Given the description of an element on the screen output the (x, y) to click on. 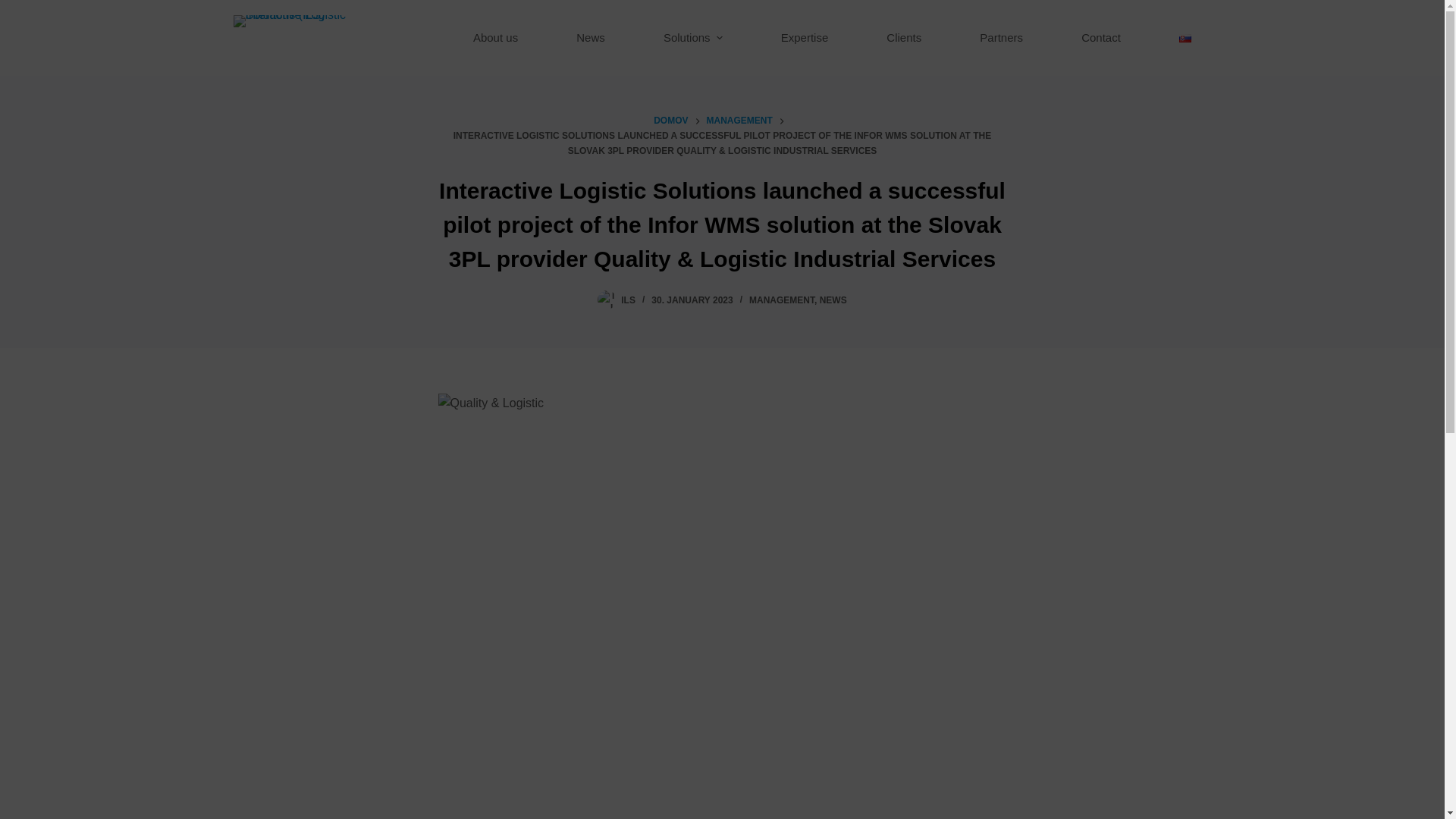
Contact (1101, 37)
Clients (904, 37)
Solutions (692, 37)
DOMOV (670, 120)
Expertise (804, 37)
MANAGEMENT (739, 120)
Skip to content (15, 7)
News (591, 37)
Partners (1001, 37)
About us (494, 37)
Posts by ILS (627, 299)
